Given the description of an element on the screen output the (x, y) to click on. 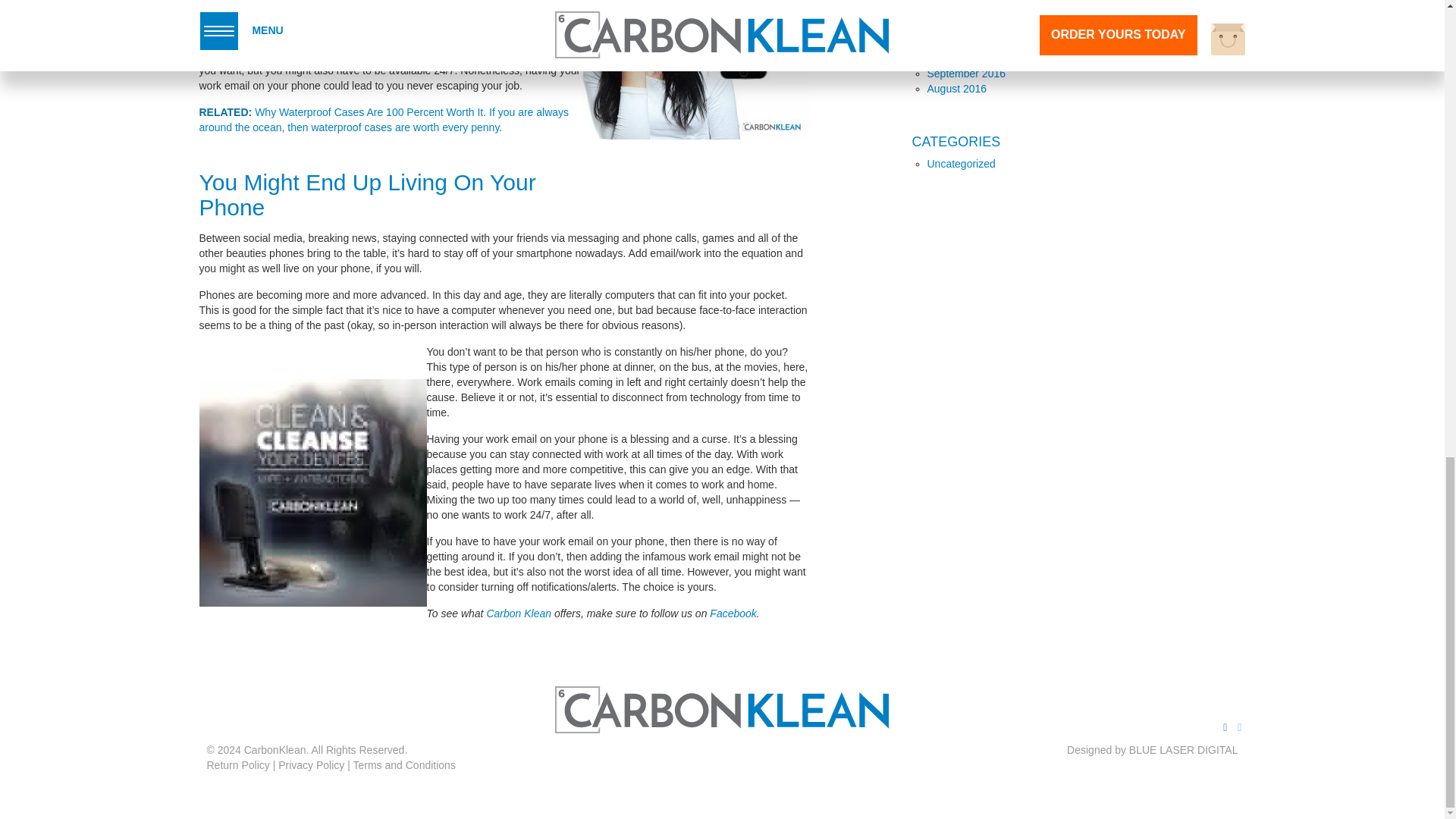
Facebook (732, 613)
Carbon Klean (518, 613)
